Given the description of an element on the screen output the (x, y) to click on. 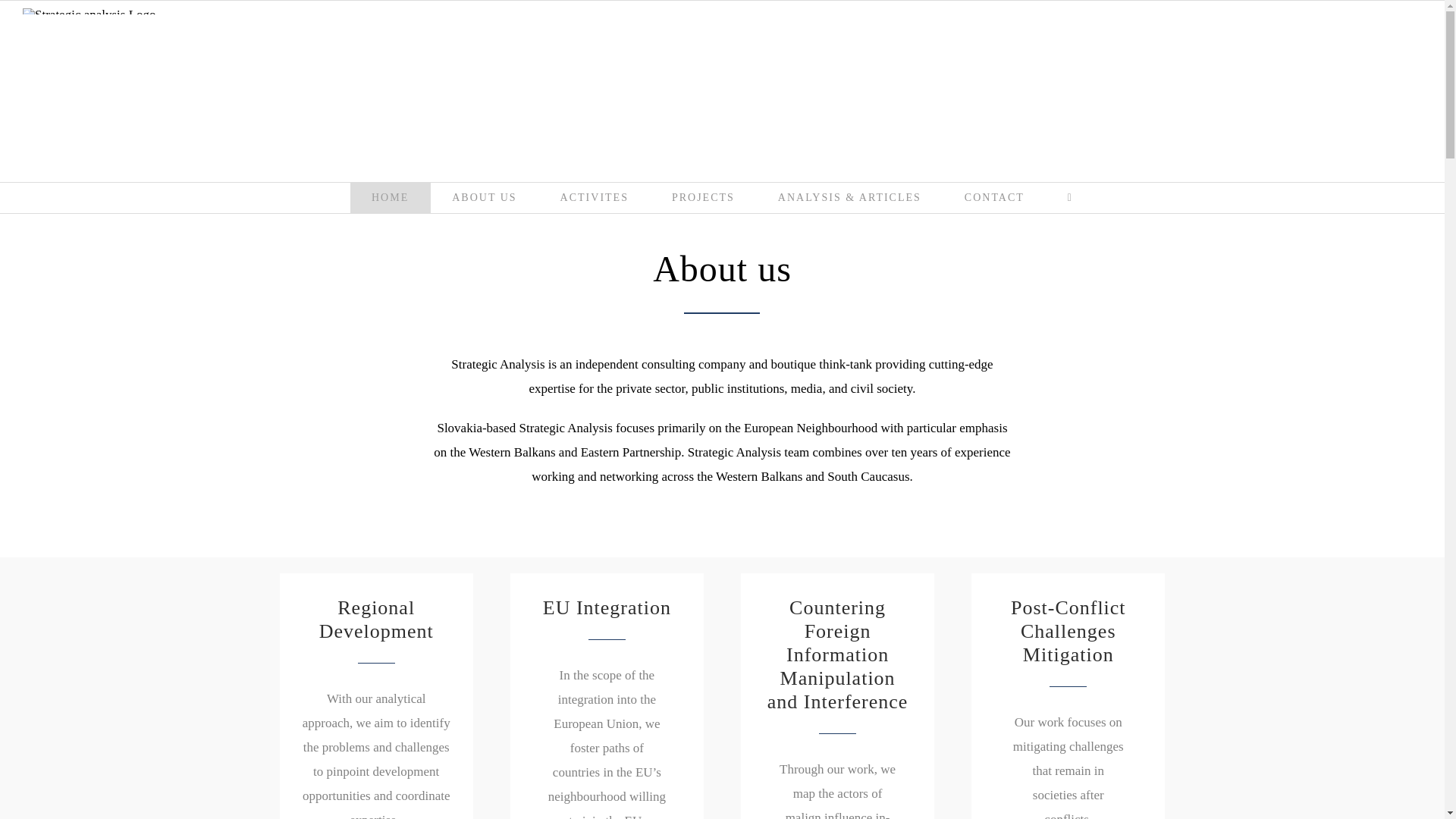
ACTIVITES (593, 197)
CONTACT (993, 197)
ABOUT US (484, 197)
PROJECTS (702, 197)
Regional Development (375, 619)
About us (722, 268)
EU Integration (606, 607)
HOME (390, 197)
Toggle Sliding Bar (1069, 197)
Countering Foreign Information Manipulation and Interference (836, 654)
Post-Conflict Challenges Mitigation (1067, 631)
